Given the description of an element on the screen output the (x, y) to click on. 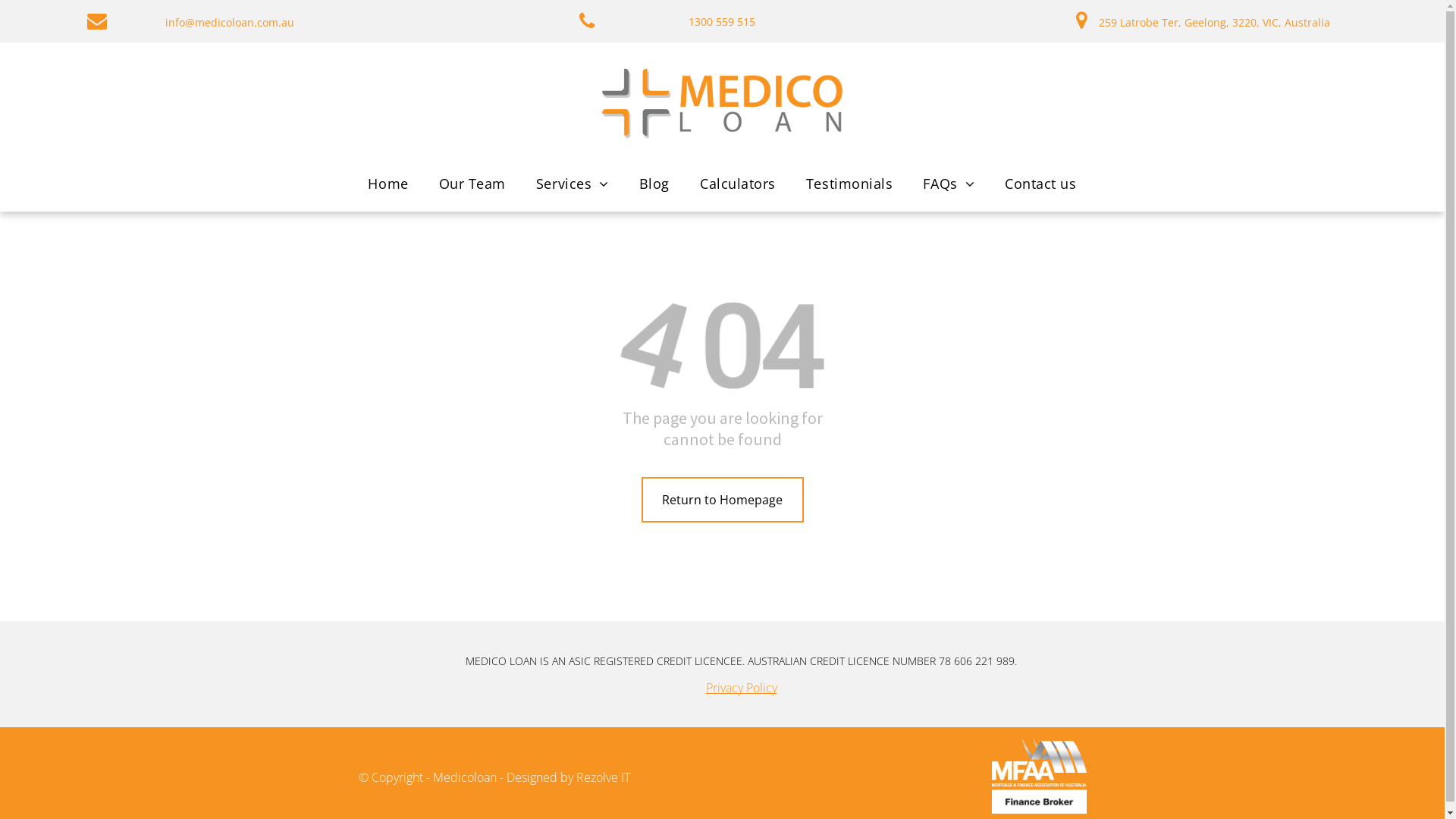
Our Team Element type: text (471, 183)
Contact us Element type: text (1040, 183)
info@medicoloan.com.au Element type: text (229, 21)
Return to Homepage Element type: text (722, 499)
Blog Element type: text (654, 183)
FAQs Element type: text (948, 183)
Rezolve IT Element type: text (603, 776)
1300 559 515 Element type: text (721, 21)
Privacy Policy Element type: text (740, 687)
259 Latrobe Ter, Geelong, 3220, VIC, Australia Element type: text (1214, 20)
Home Element type: text (387, 183)
Calculators Element type: text (737, 183)
Testimonials Element type: text (848, 183)
Services Element type: text (572, 183)
